Given the description of an element on the screen output the (x, y) to click on. 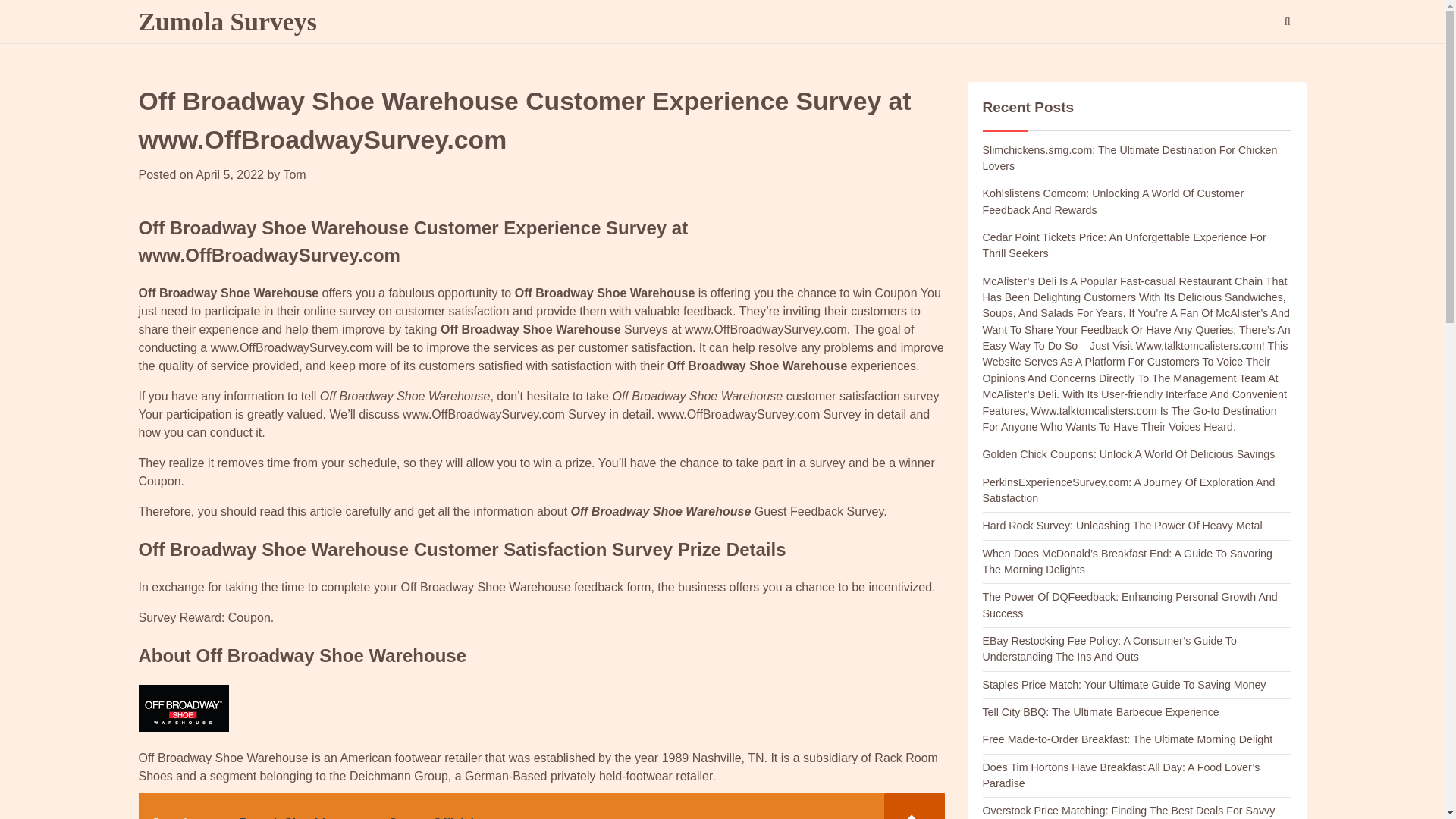
Zumola Surveys (226, 21)
Golden Chick Coupons: Unlock A World Of Delicious Savings (1128, 453)
Free Made-to-Order Breakfast: The Ultimate Morning Delight (1127, 739)
Search (1259, 60)
Search (1286, 21)
See also  www.BargainShopListens.com Survey Official (540, 806)
Tell City BBQ: The Ultimate Barbecue Experience (1101, 711)
Tom (293, 174)
April 5, 2022 (229, 174)
Staples Price Match: Your Ultimate Guide To Saving Money (1124, 684)
